Given the description of an element on the screen output the (x, y) to click on. 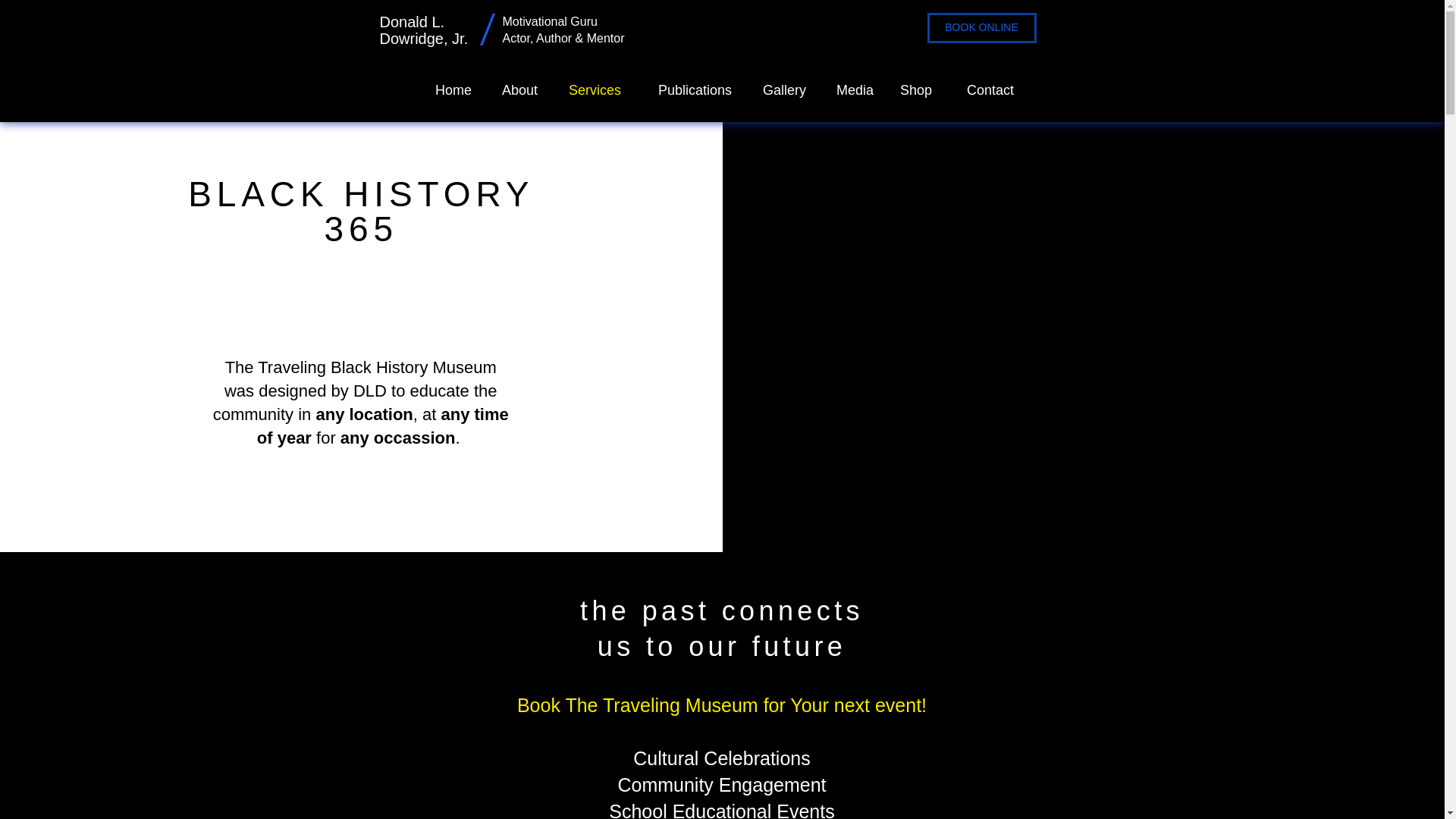
Motivational Guru  (550, 21)
Media (850, 89)
About (515, 89)
Publications (686, 89)
Shop (914, 89)
Home (450, 89)
Gallery (779, 89)
Donald L. (411, 21)
Services (589, 89)
BOOK ONLINE (980, 28)
Contact (984, 89)
